Given the description of an element on the screen output the (x, y) to click on. 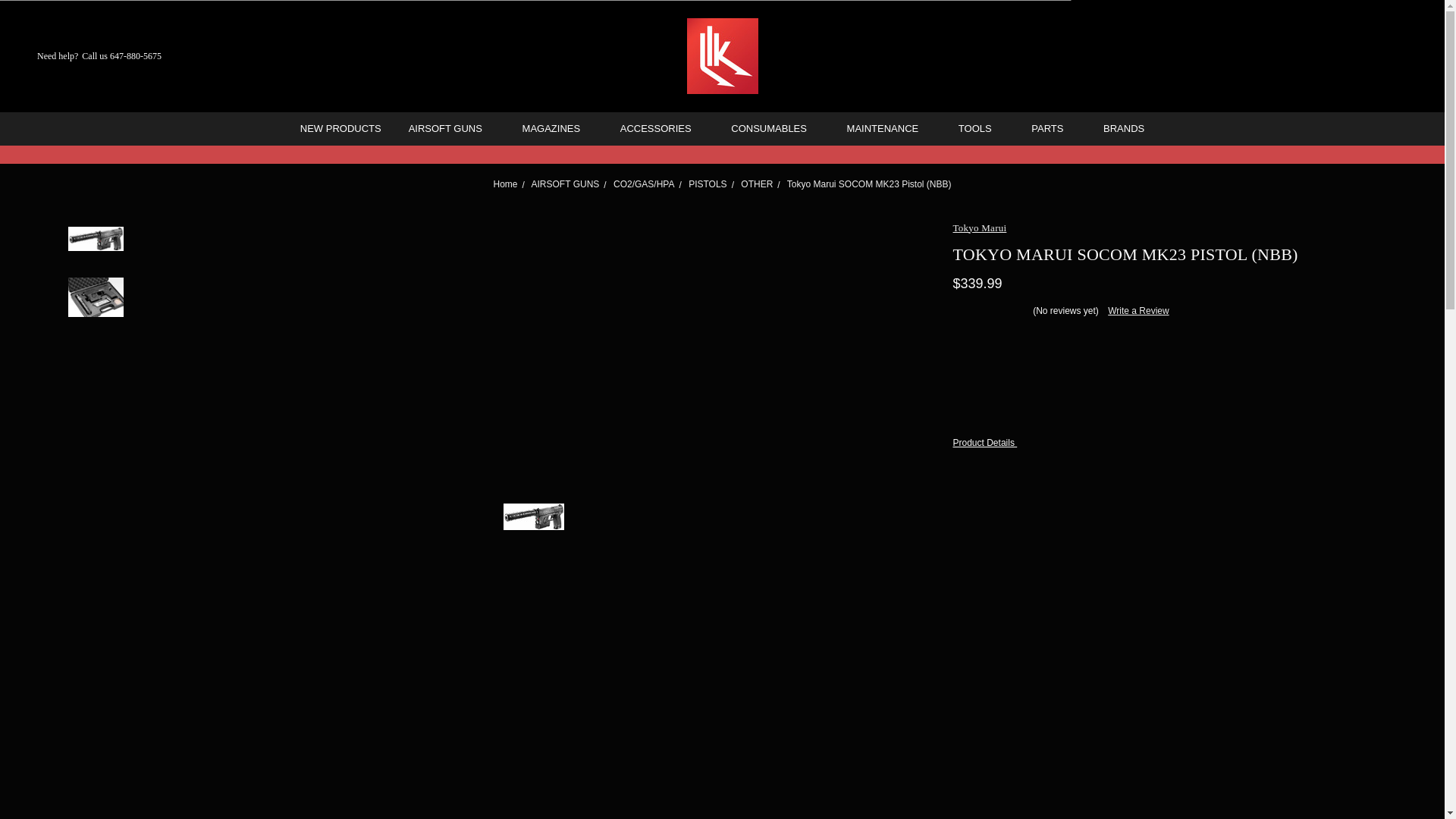
Product Details (1165, 442)
Need help?Call us 647-880-5675 (89, 56)
NEW PRODUCTS (340, 128)
AIRSOFT GUNS (451, 128)
LOW IMPACT KINETICS (722, 56)
